Given the description of an element on the screen output the (x, y) to click on. 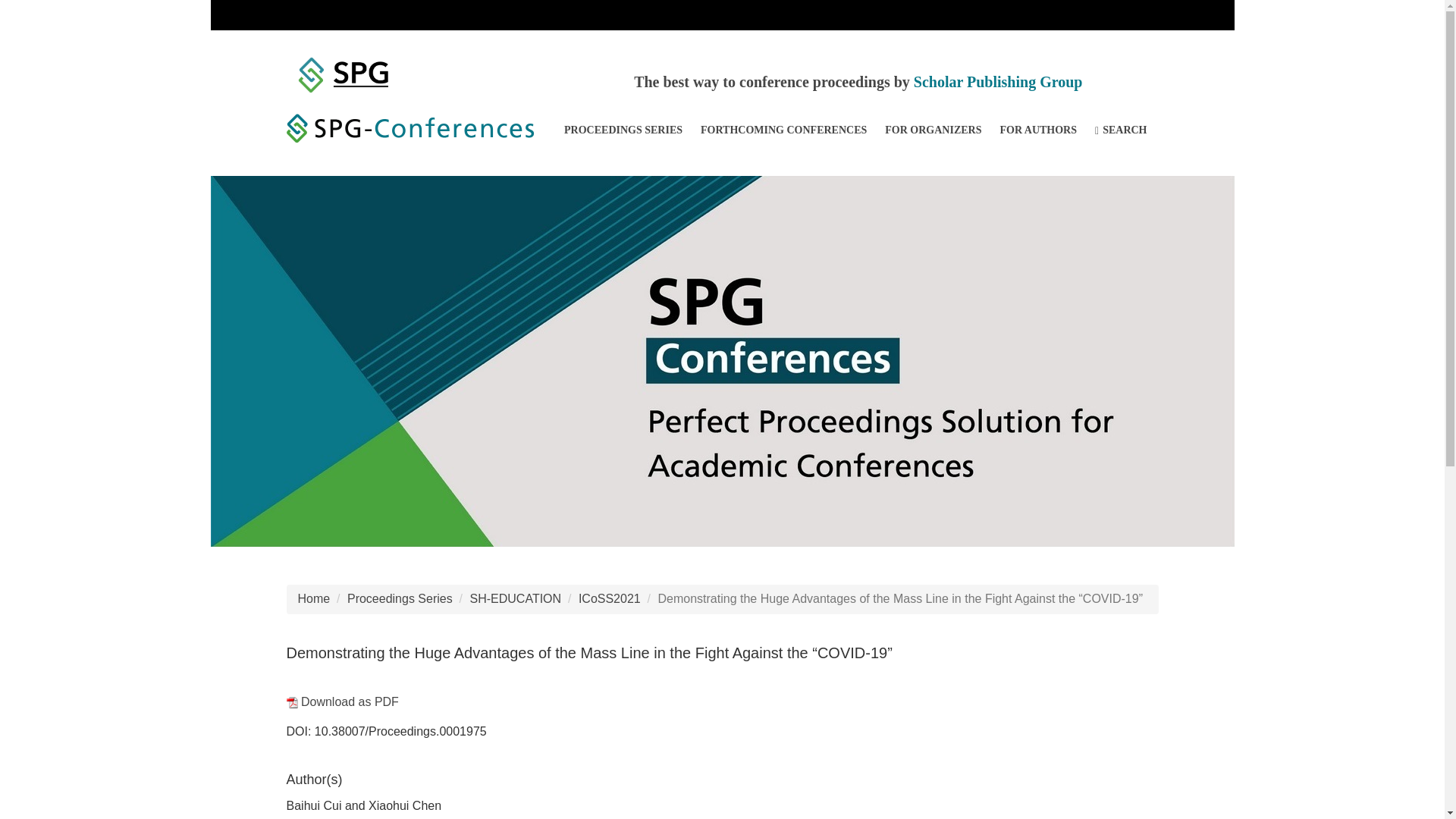
ICoSS2021 (609, 598)
FOR ORGANIZERS (933, 129)
SH-EDUCATION (516, 598)
Scholar Publishing Group (998, 81)
SEARCH (1120, 129)
PROCEEDINGS SERIES (623, 129)
FORTHCOMING CONFERENCES (783, 129)
Home (313, 598)
Proceedings Series (399, 598)
Download as PDF (342, 701)
